Given the description of an element on the screen output the (x, y) to click on. 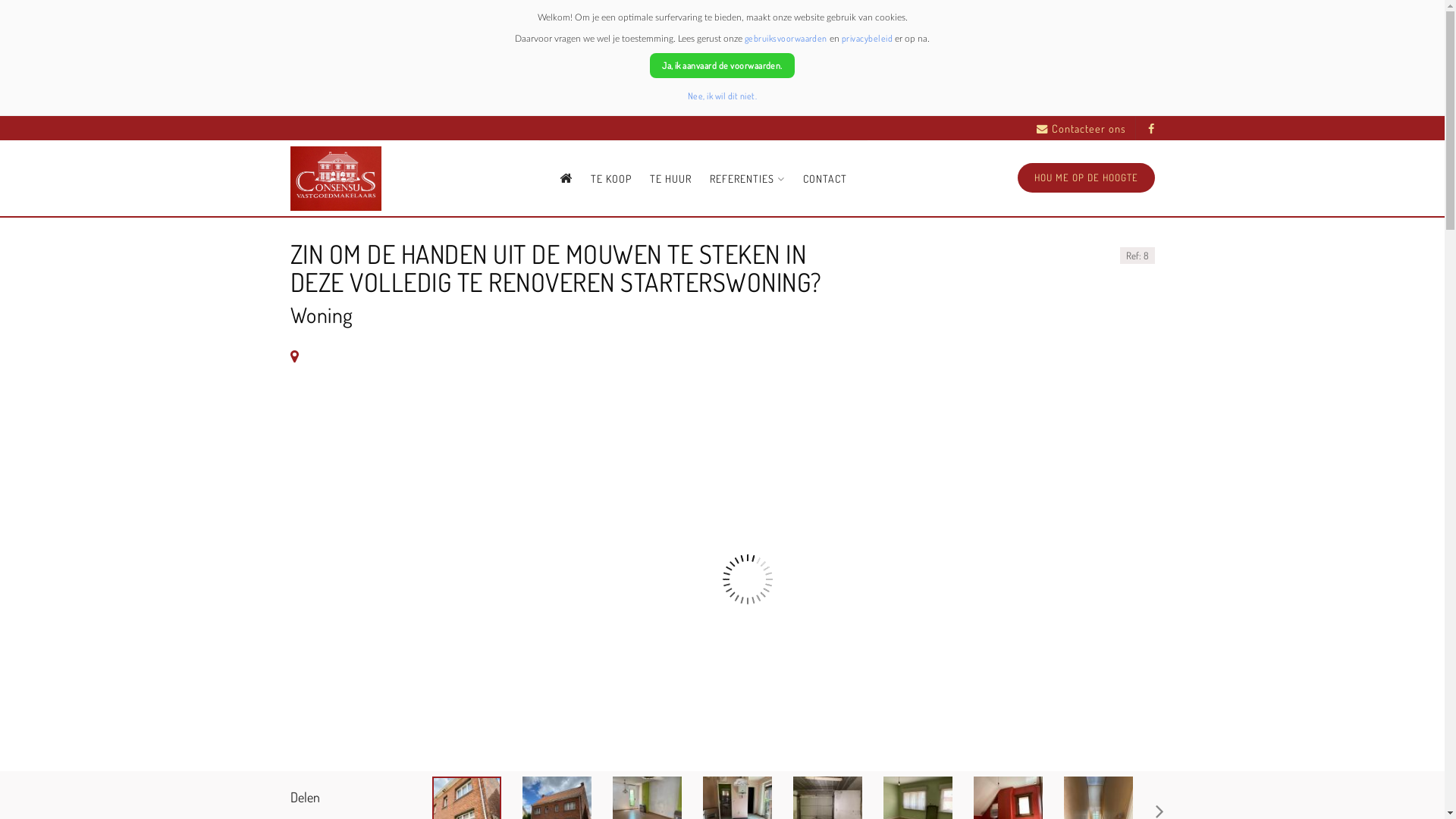
Ja, ik aanvaard de voorwaarden. Element type: text (721, 65)
CONTACT Element type: text (825, 178)
gebruiksvoorwaarden Element type: text (785, 37)
TE KOOP Element type: text (610, 178)
REFERENTIES Element type: text (746, 178)
privacybeleid Element type: text (866, 37)
TE HUUR Element type: text (670, 178)
Contacteer ons Element type: text (1080, 128)
Nee, ik wil dit niet. Element type: text (721, 95)
HOU ME OP DE HOOGTE Element type: text (1085, 177)
